Given the description of an element on the screen output the (x, y) to click on. 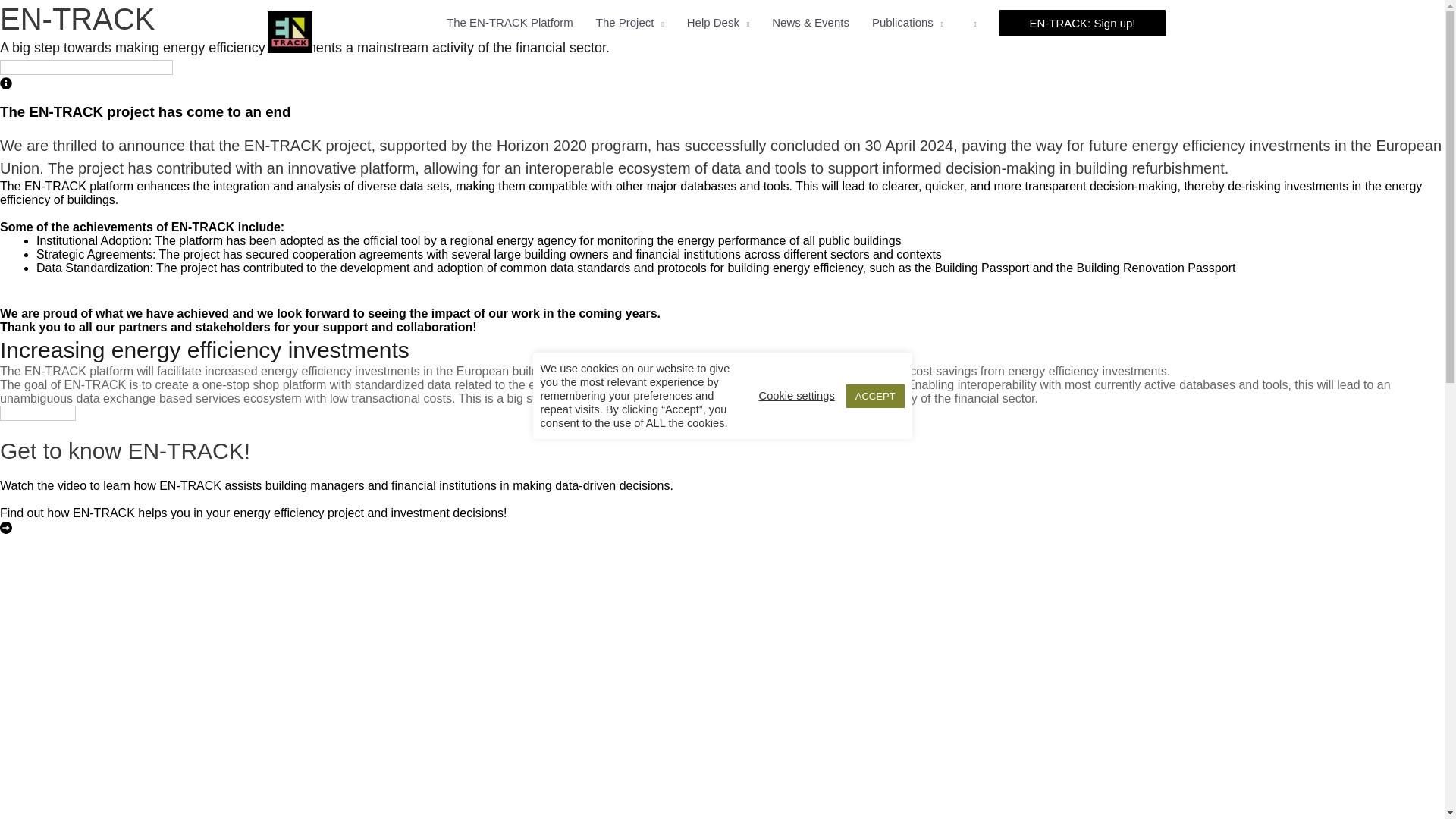
Publications (907, 22)
Help Desk (718, 22)
Visit the EN-TRACK platform! (86, 67)
The EN-TRACK Platform (510, 22)
Cookie settings (796, 395)
Learn more (37, 412)
The Project (630, 22)
EN-TRACK: Sign up! (1082, 22)
